Given the description of an element on the screen output the (x, y) to click on. 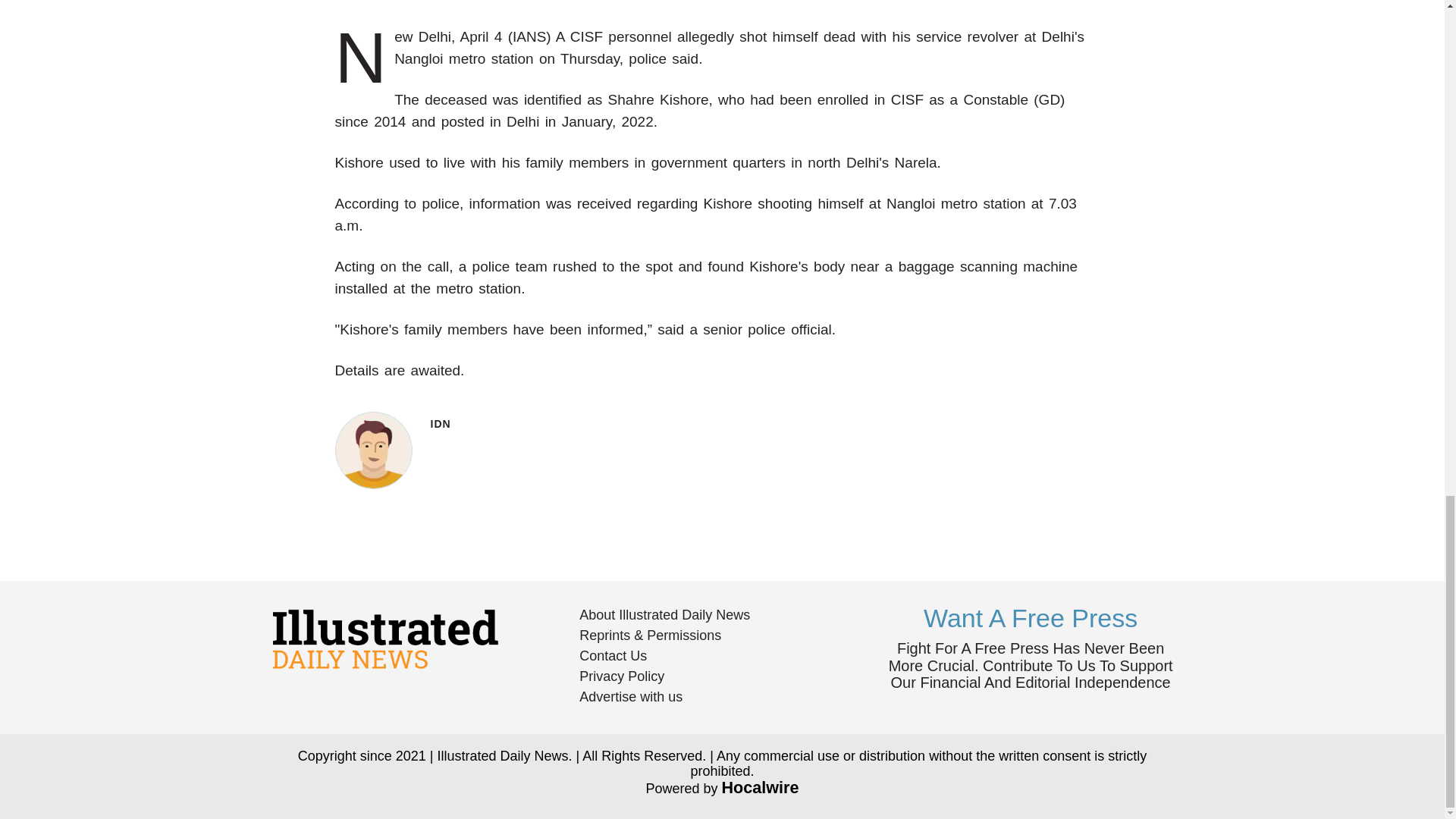
IDN (374, 450)
